Given the description of an element on the screen output the (x, y) to click on. 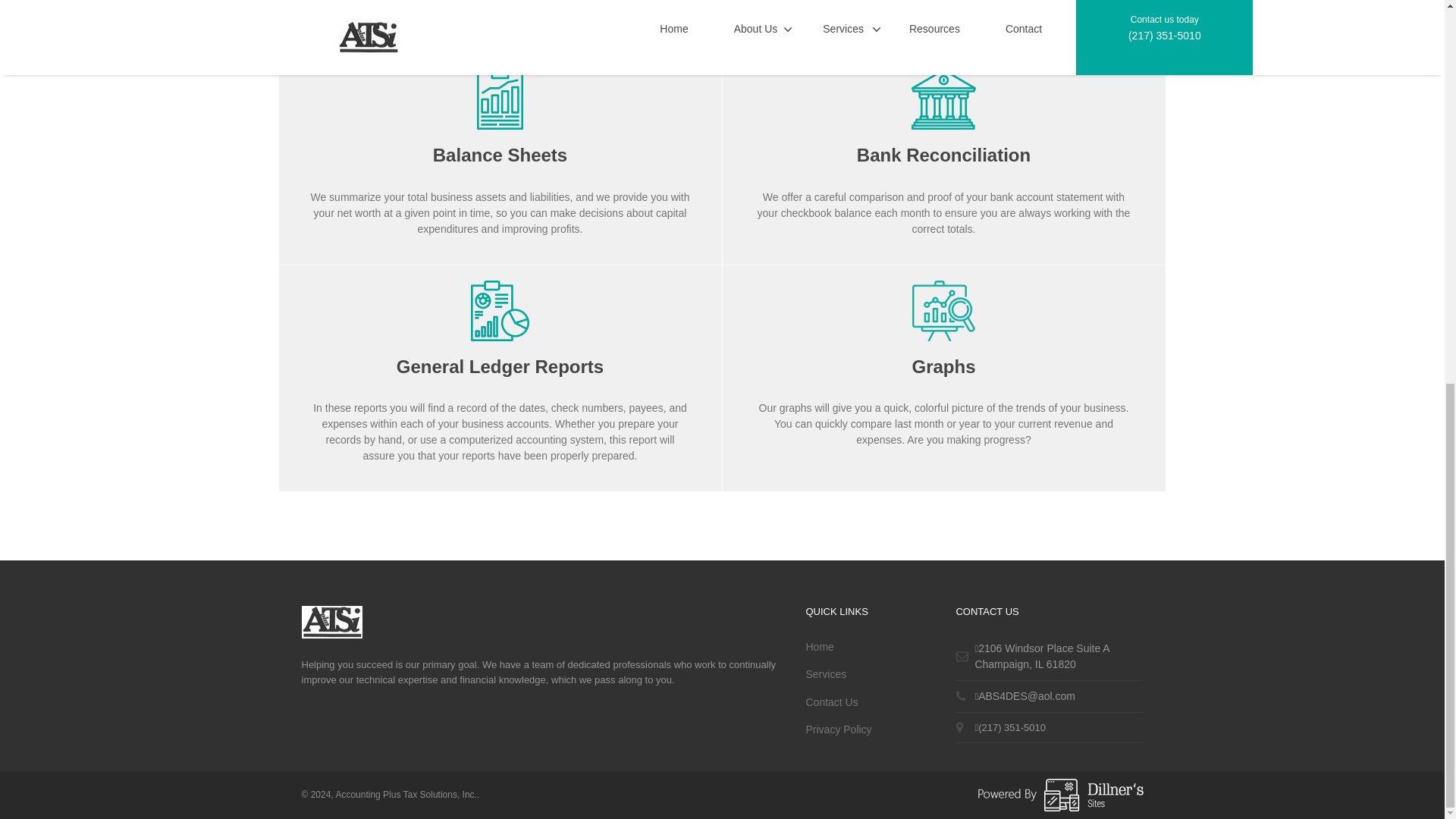
Privacy Policy (1041, 656)
Services (837, 729)
Contact Us (825, 673)
Home (831, 702)
